Given the description of an element on the screen output the (x, y) to click on. 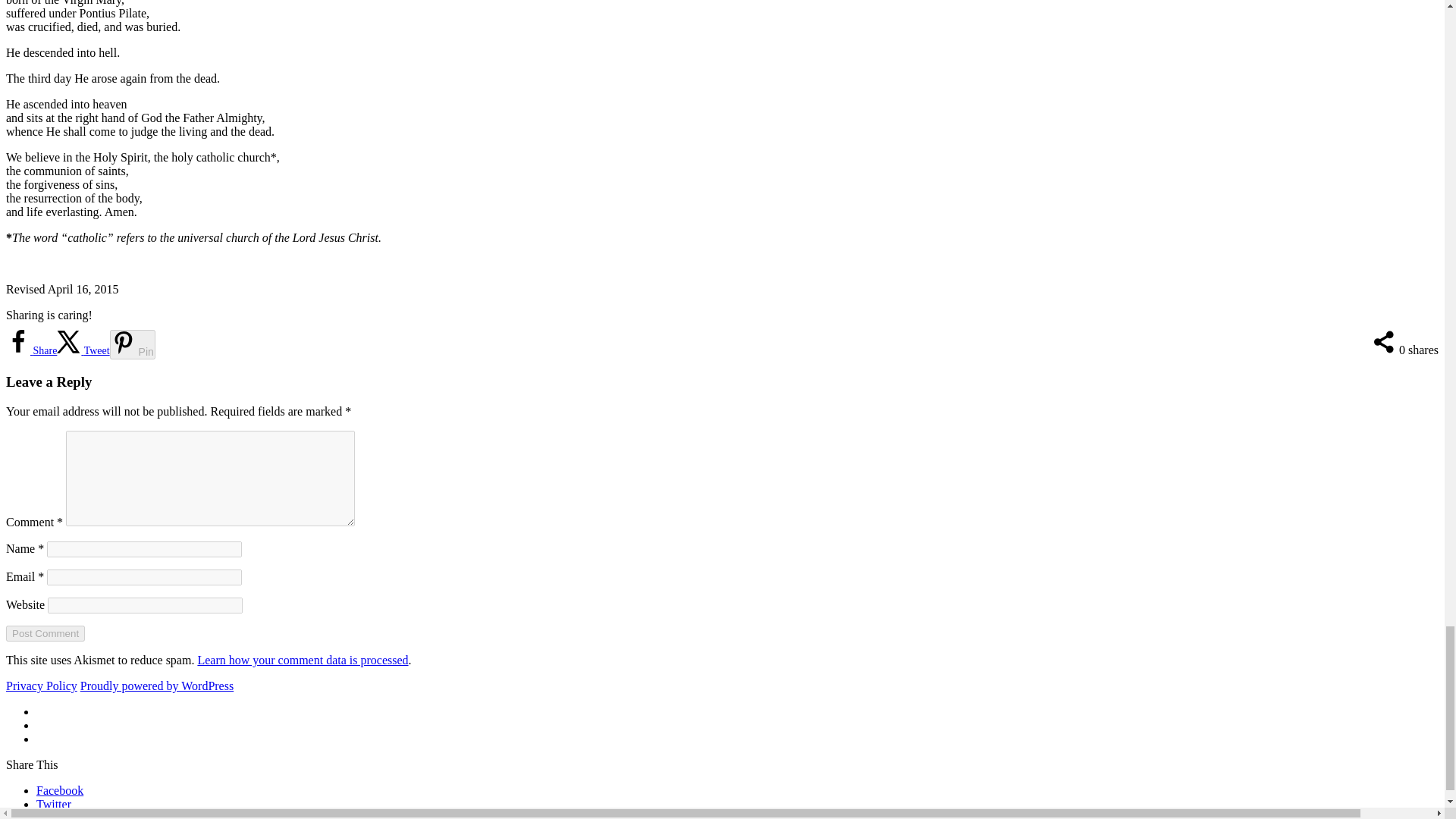
Privacy Policy (41, 685)
Share on Facebook (30, 350)
Learn how your comment data is processed (301, 659)
Post Comment (44, 633)
Share on X (82, 350)
Tweet (82, 350)
Post Comment (44, 633)
Save to Pinterest (132, 344)
Share (30, 350)
Pin (132, 344)
